Given the description of an element on the screen output the (x, y) to click on. 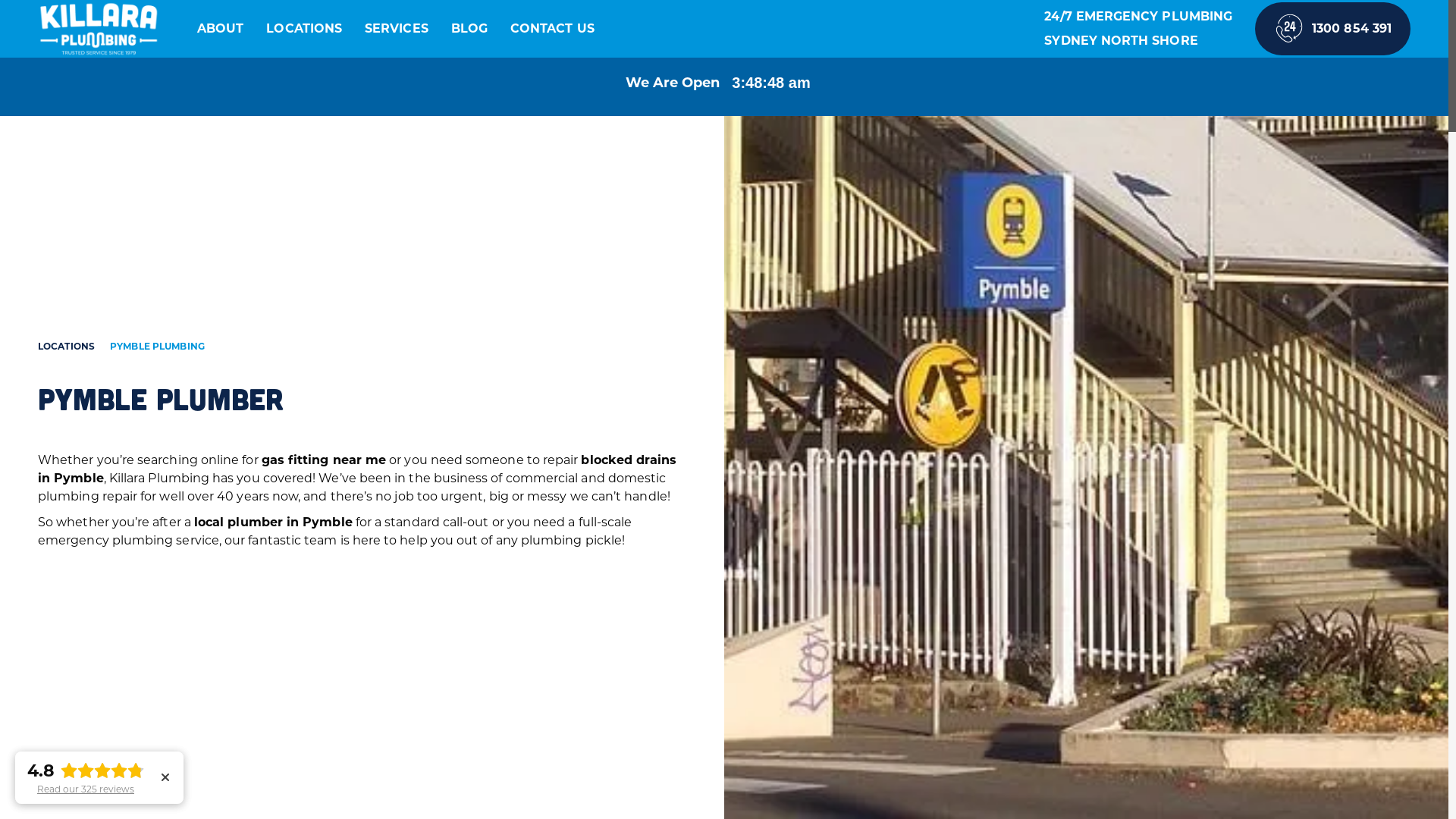
BLOG Element type: text (469, 28)
SERVICES Element type: text (396, 28)
1300 854 391 Element type: text (1332, 28)
Killara Plumbing Element type: hover (98, 28)
CONTACT US Element type: text (552, 28)
ABOUT Element type: text (220, 28)
24/7 EMERGENCY PLUMBING Element type: text (1138, 16)
LOCATIONS Element type: text (304, 28)
LOCATIONS Element type: text (65, 346)
